Given the description of an element on the screen output the (x, y) to click on. 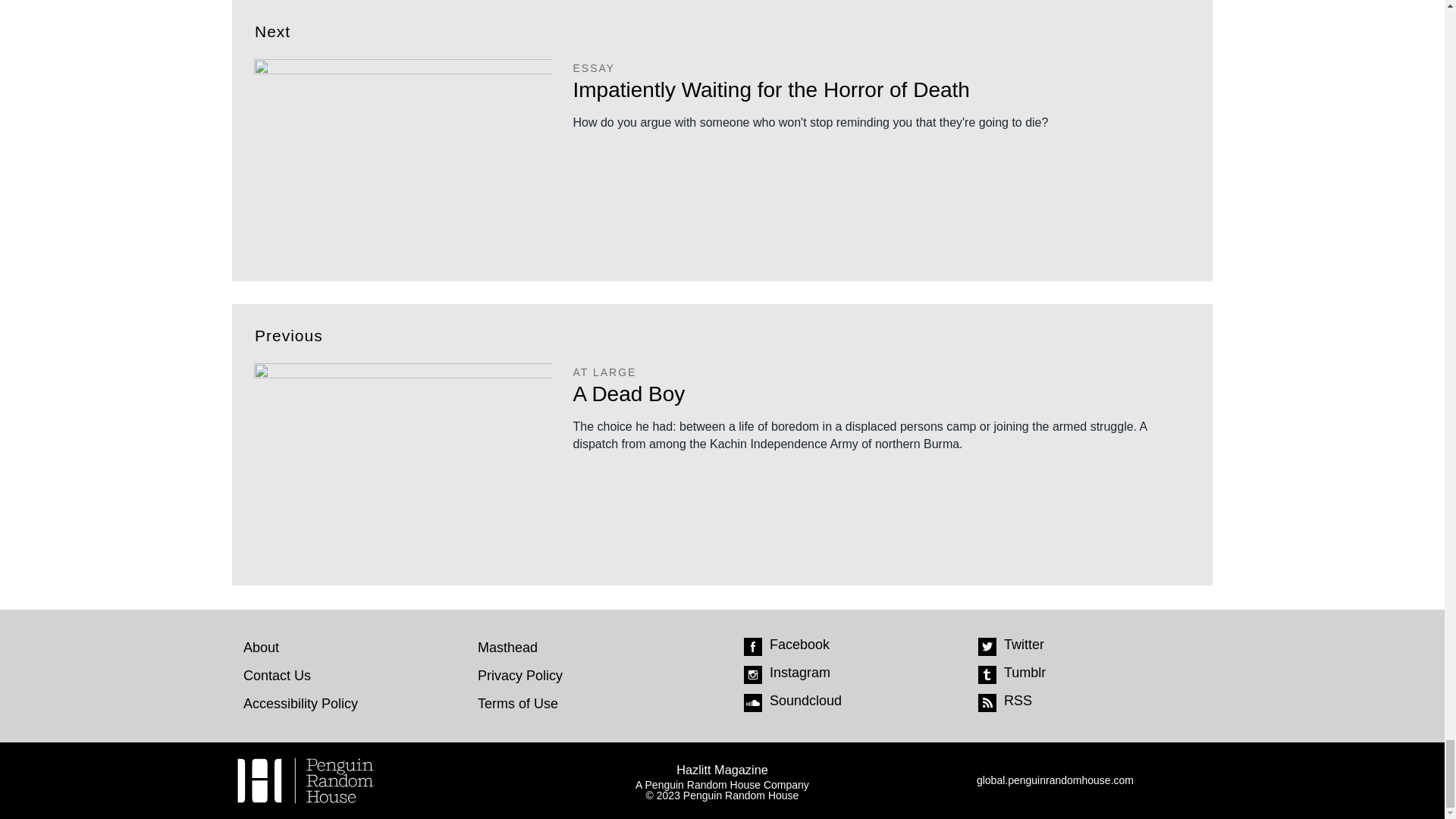
RSS (986, 702)
Instagram (752, 674)
Facebook (752, 647)
Tumblr (986, 674)
Soundcloud (752, 702)
Twitter (986, 647)
